Given the description of an element on the screen output the (x, y) to click on. 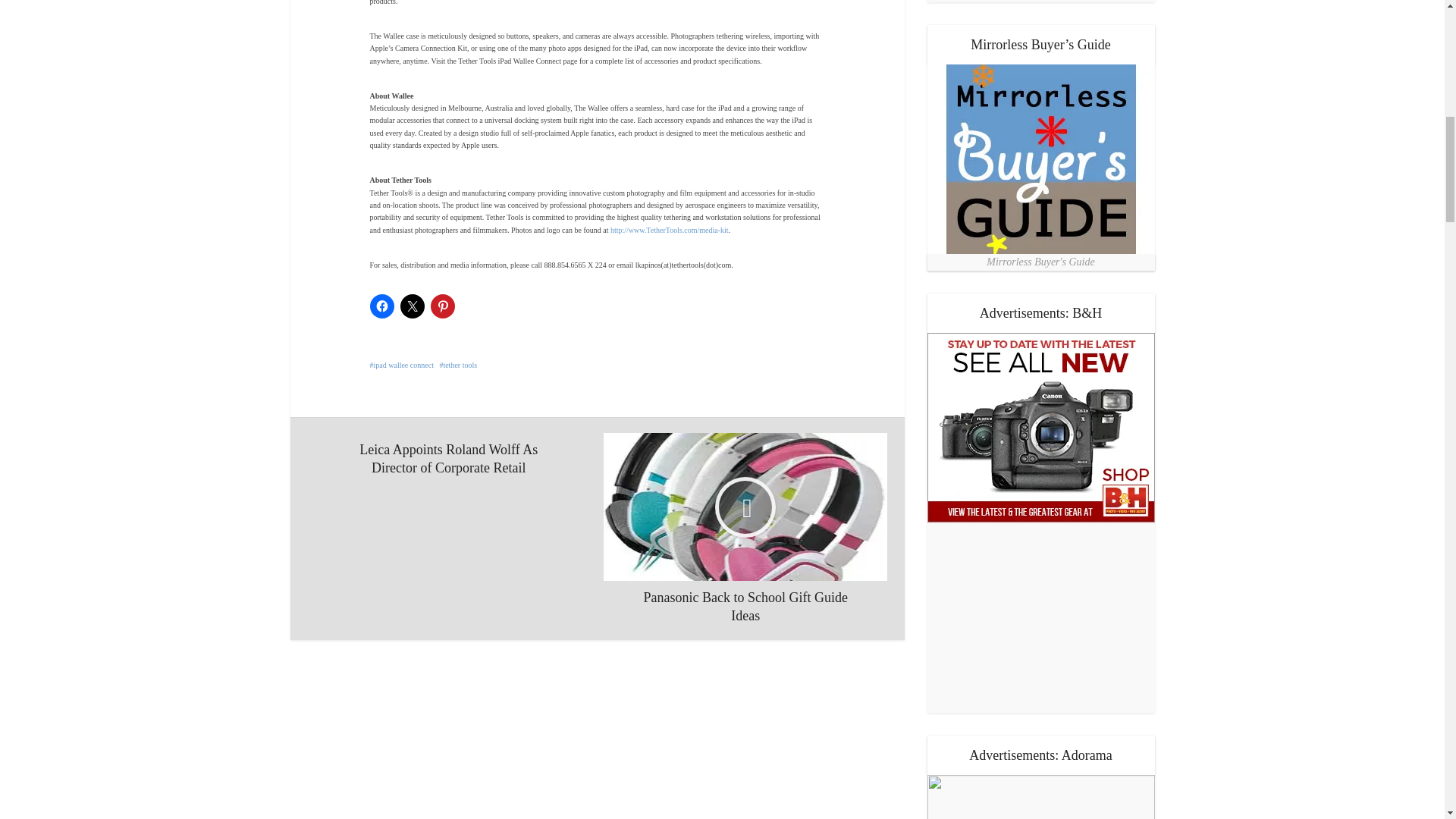
Panasonic Back to School Gift Guide Ideas (745, 528)
Mirrorless Buyer's Guide (1040, 158)
Click to share on Pinterest (442, 306)
Click to share on Facebook (381, 306)
Leica Appoints Roland Wolff As Director of Corporate Retail (449, 454)
ipad wallee connect (401, 365)
tether tools (458, 365)
Click to share on X (412, 306)
